Given the description of an element on the screen output the (x, y) to click on. 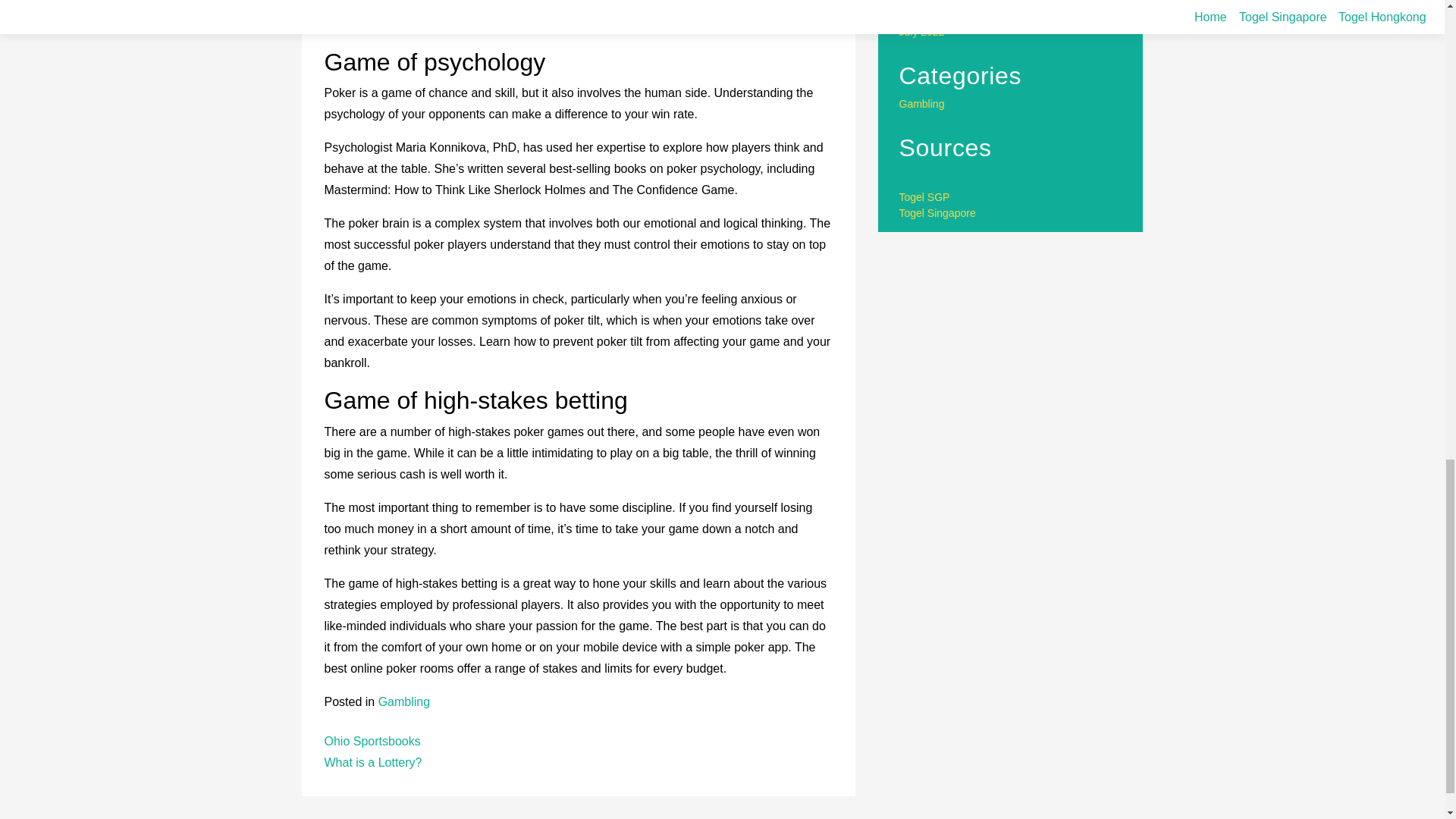
Gambling (403, 701)
What is a Lottery? (373, 762)
Ohio Sportsbooks (372, 740)
